Given the description of an element on the screen output the (x, y) to click on. 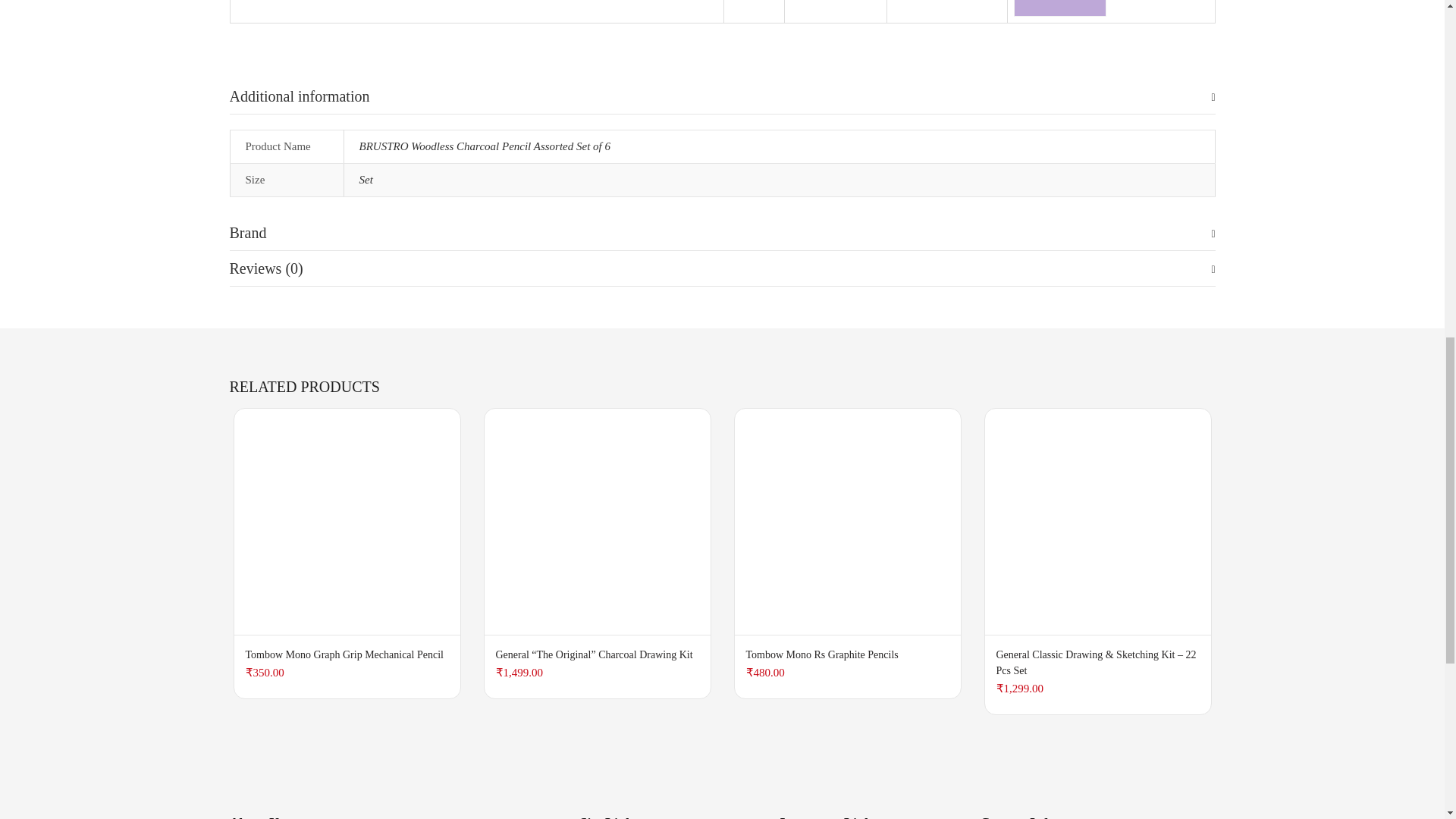
1 (909, 4)
Tombow Mono Graph Grip Mechanical Pencil (346, 520)
